Given the description of an element on the screen output the (x, y) to click on. 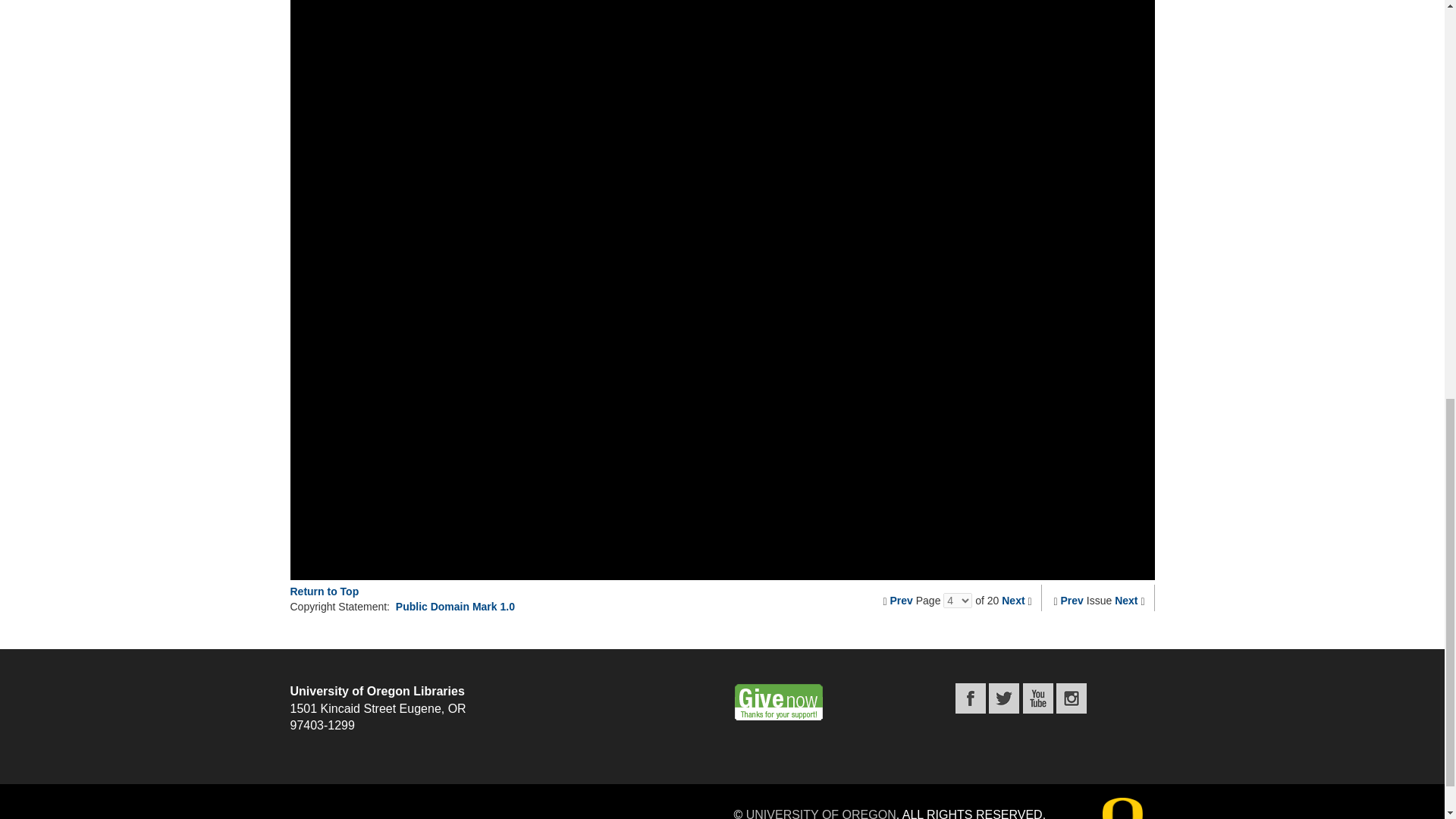
Return to Top (323, 591)
Next (1126, 600)
Prev (900, 600)
Public Domain Mark 1.0 (455, 606)
Prev (1072, 600)
Next (1013, 600)
